Given the description of an element on the screen output the (x, y) to click on. 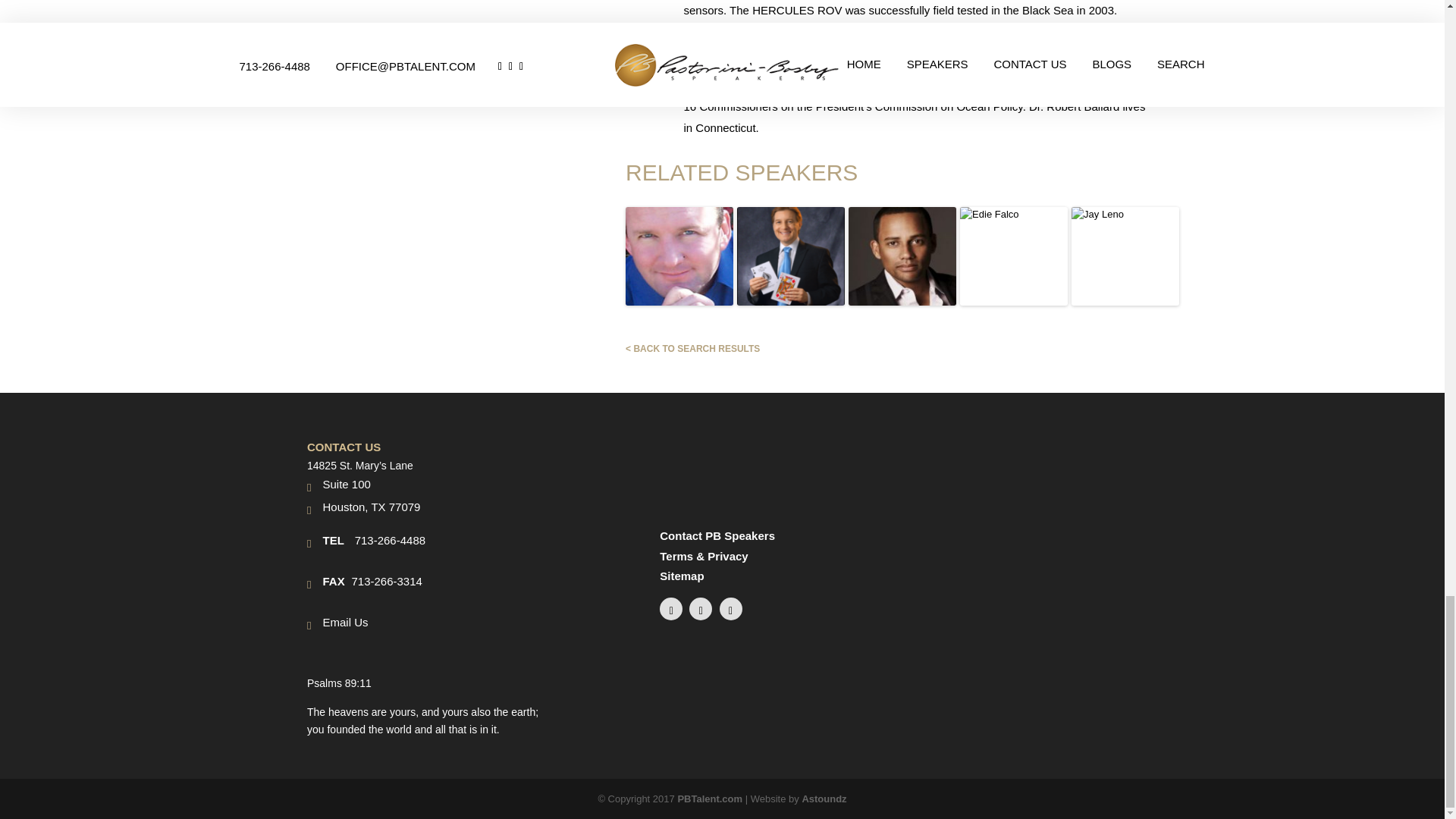
Contact PB Speakers (716, 535)
PB Talent (709, 798)
Astoundz (823, 798)
Email Us (344, 621)
